Given the description of an element on the screen output the (x, y) to click on. 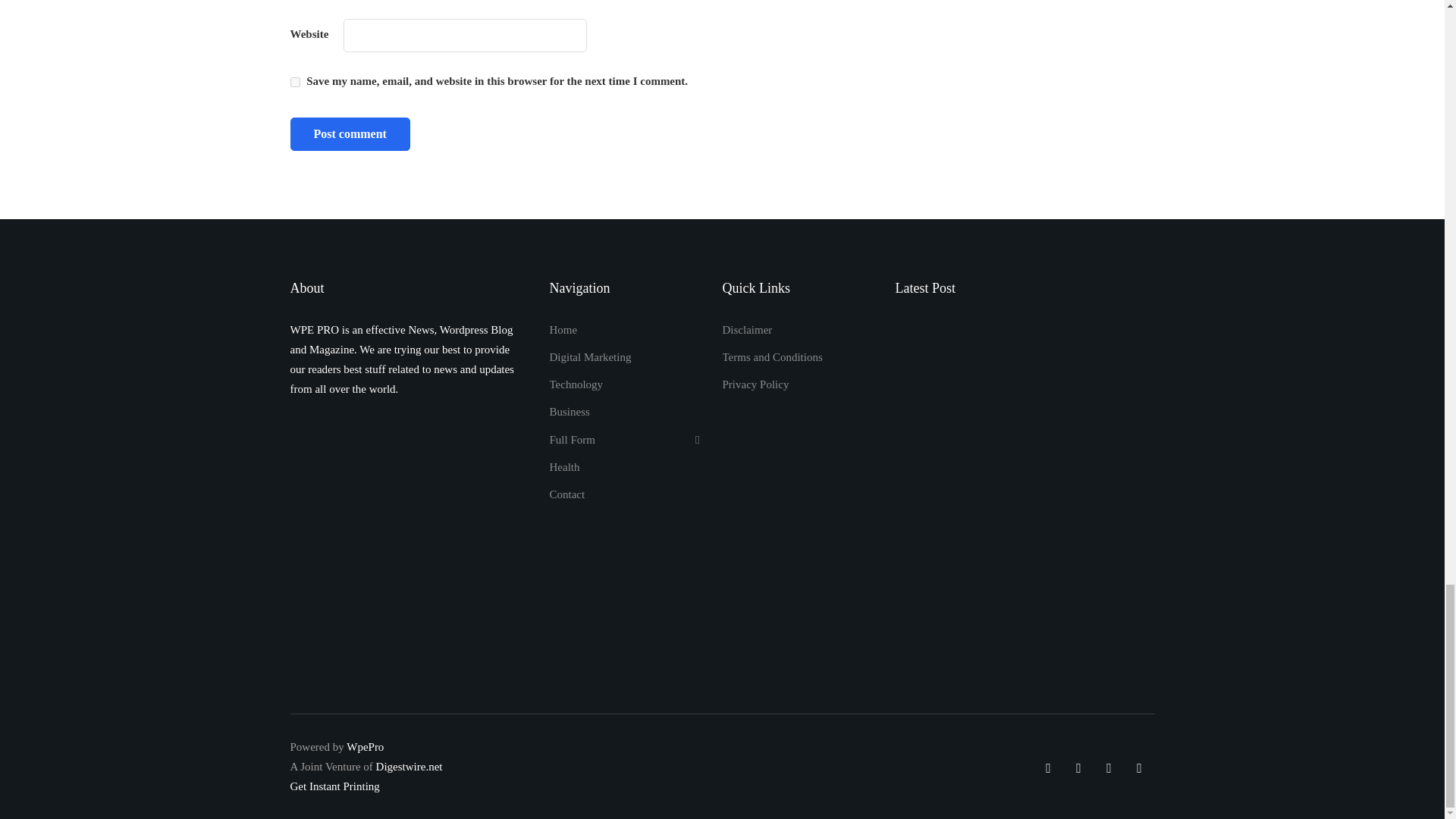
Post comment (349, 133)
yes (294, 81)
